Given the description of an element on the screen output the (x, y) to click on. 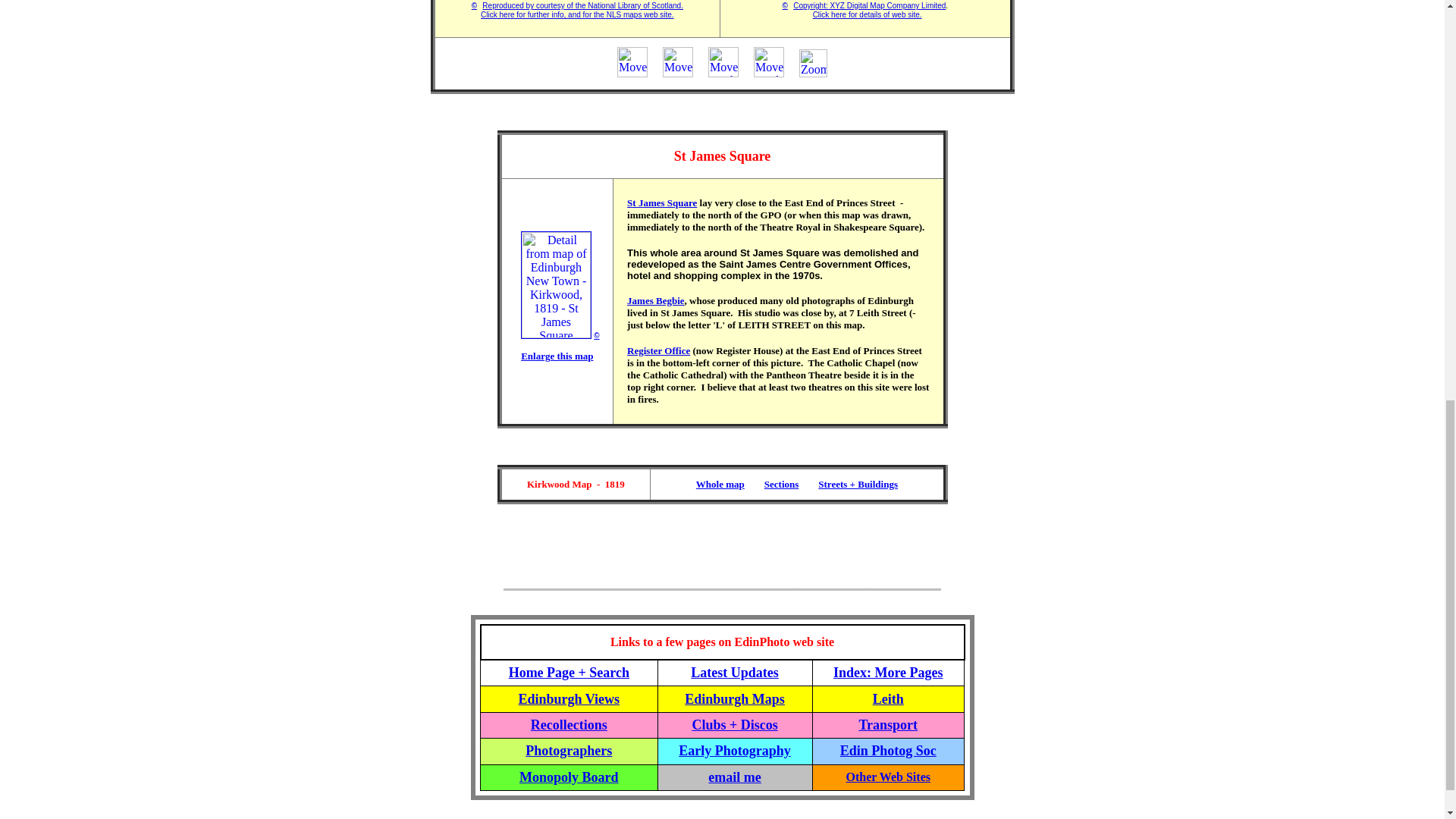
James Begbie (655, 300)
St James Square (662, 202)
Whole map (719, 482)
Register Office (658, 350)
Copyright: XYZ Digital Map Company Limited (868, 5)
Reproduced by courtesy of the National Library of Scotland. (581, 5)
Click here for details of web site. (866, 14)
Click here for further info, and for the NLS maps web site. (577, 14)
Enlarge this map (556, 355)
